Given the description of an element on the screen output the (x, y) to click on. 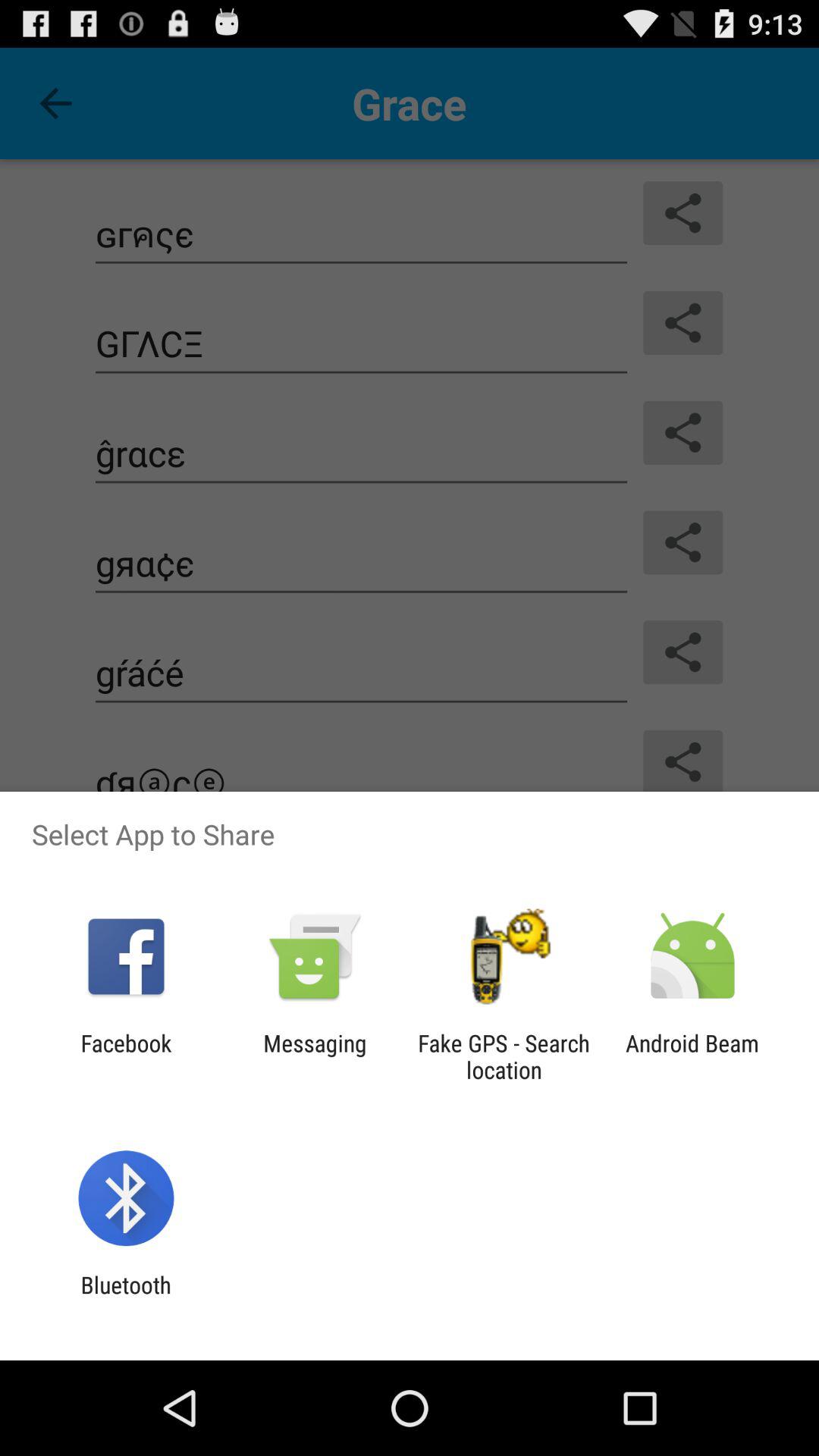
turn on app next to messaging icon (125, 1056)
